Given the description of an element on the screen output the (x, y) to click on. 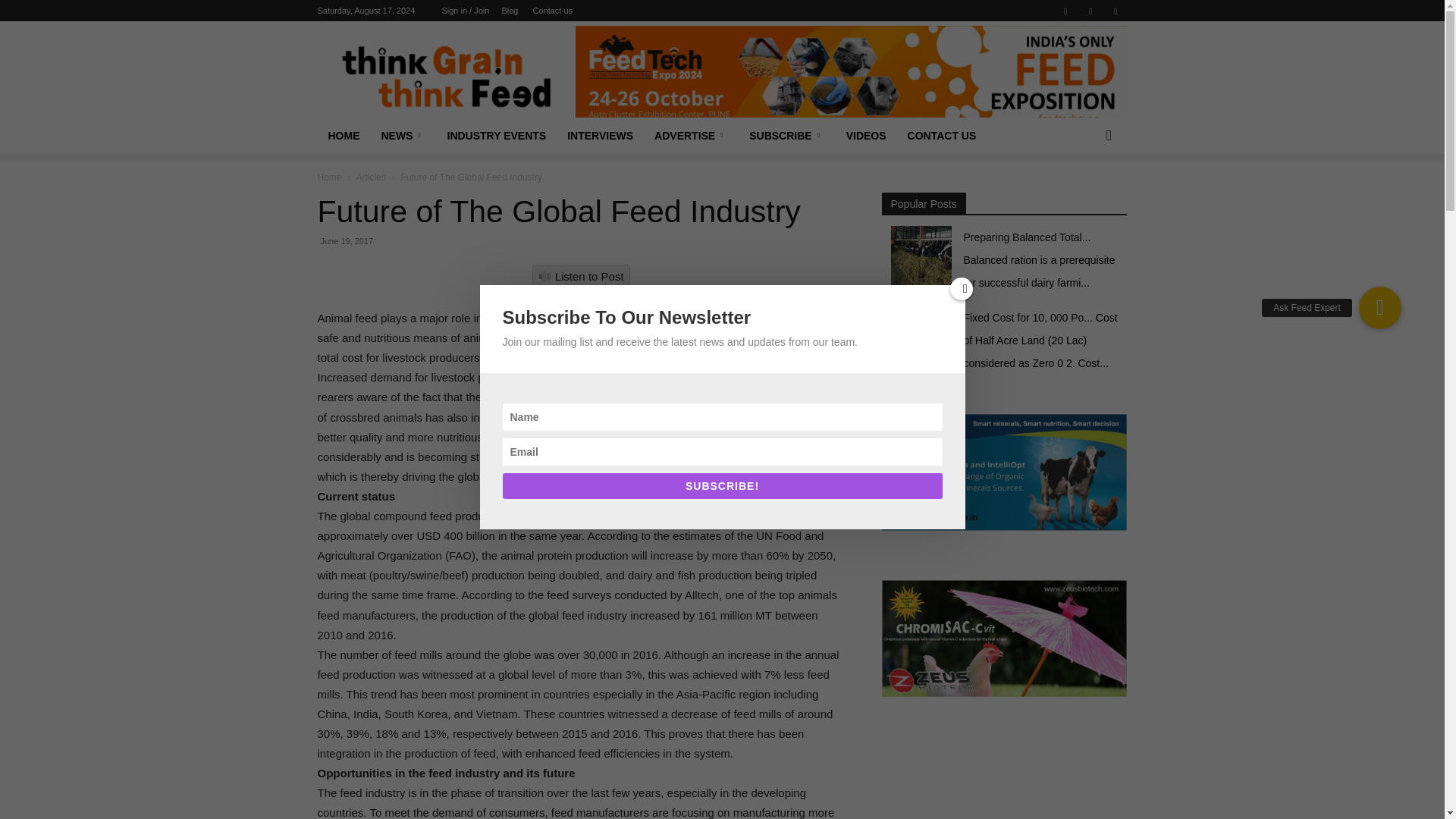
View all posts in Articles (370, 176)
Blog (509, 10)
Facebook (1065, 10)
Twitter (1114, 10)
HOME (343, 135)
NEWS (402, 135)
Contact us (552, 10)
Linkedin (1090, 10)
